Given the description of an element on the screen output the (x, y) to click on. 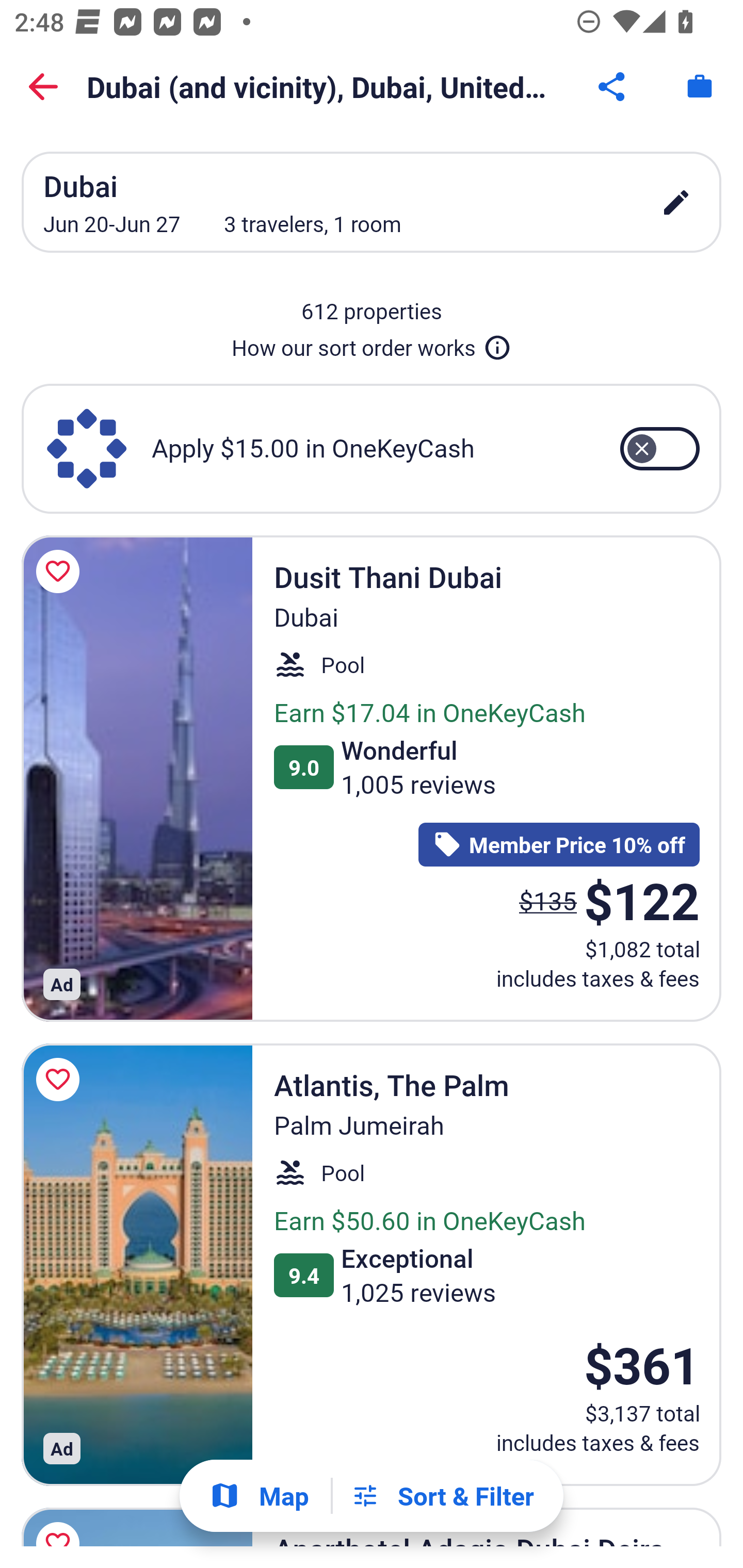
Back (43, 86)
Share Button (612, 86)
Trips. Button (699, 86)
Dubai Jun 20-Jun 27 3 travelers, 1 room edit (371, 202)
How our sort order works (371, 344)
Save Dusit Thani Dubai to a trip (61, 571)
Dusit Thani Dubai (136, 778)
$135 The price was $135 (547, 900)
Save Atlantis, The Palm to a trip (61, 1079)
Atlantis, The Palm (136, 1264)
Filters Sort & Filter Filters Button (442, 1495)
Show map Map Show map Button (258, 1495)
